Given the description of an element on the screen output the (x, y) to click on. 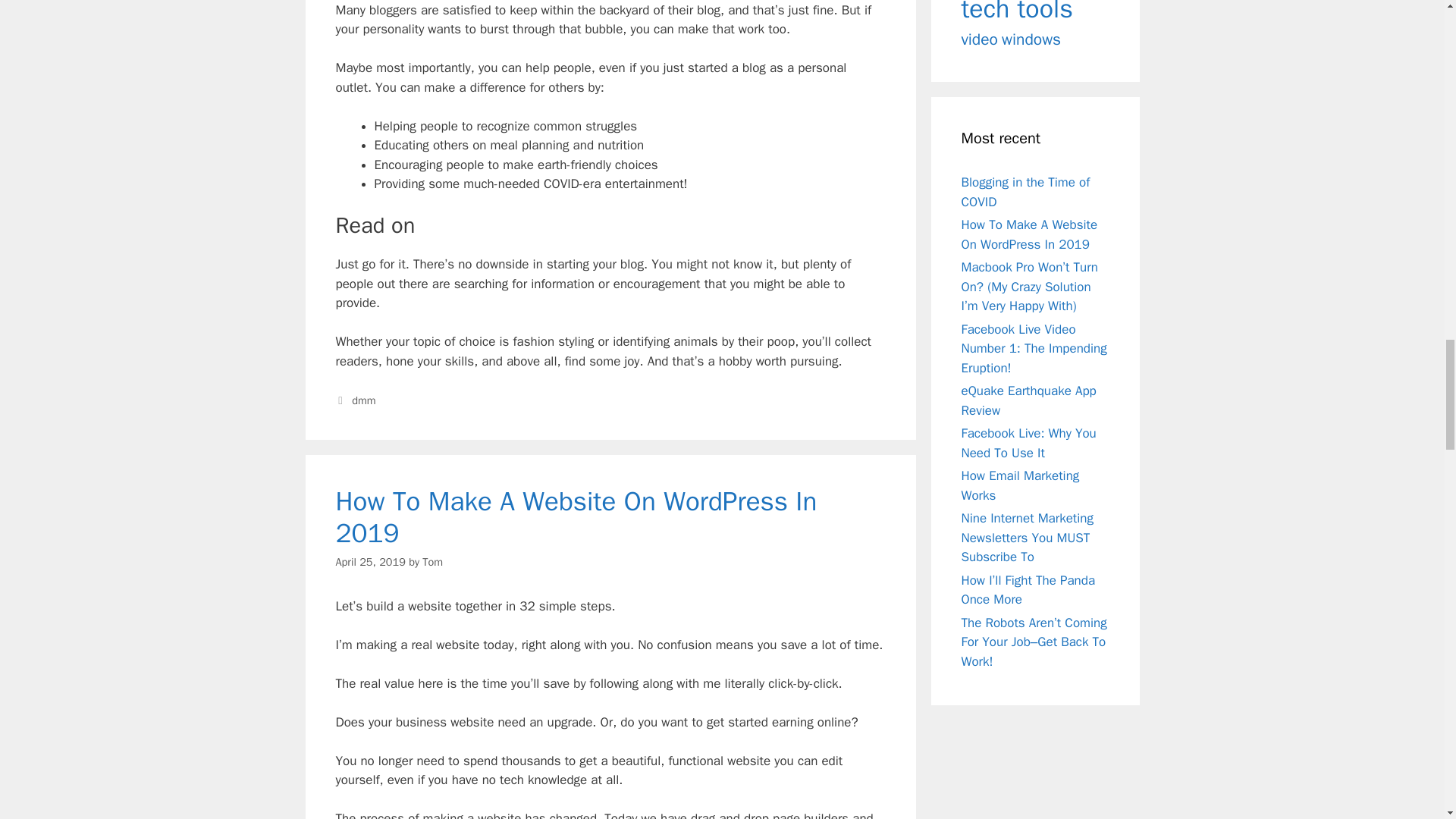
Tom (432, 561)
View all posts by Tom (432, 561)
How To Make A Website On WordPress In 2019 (575, 516)
dmm (363, 400)
